Given the description of an element on the screen output the (x, y) to click on. 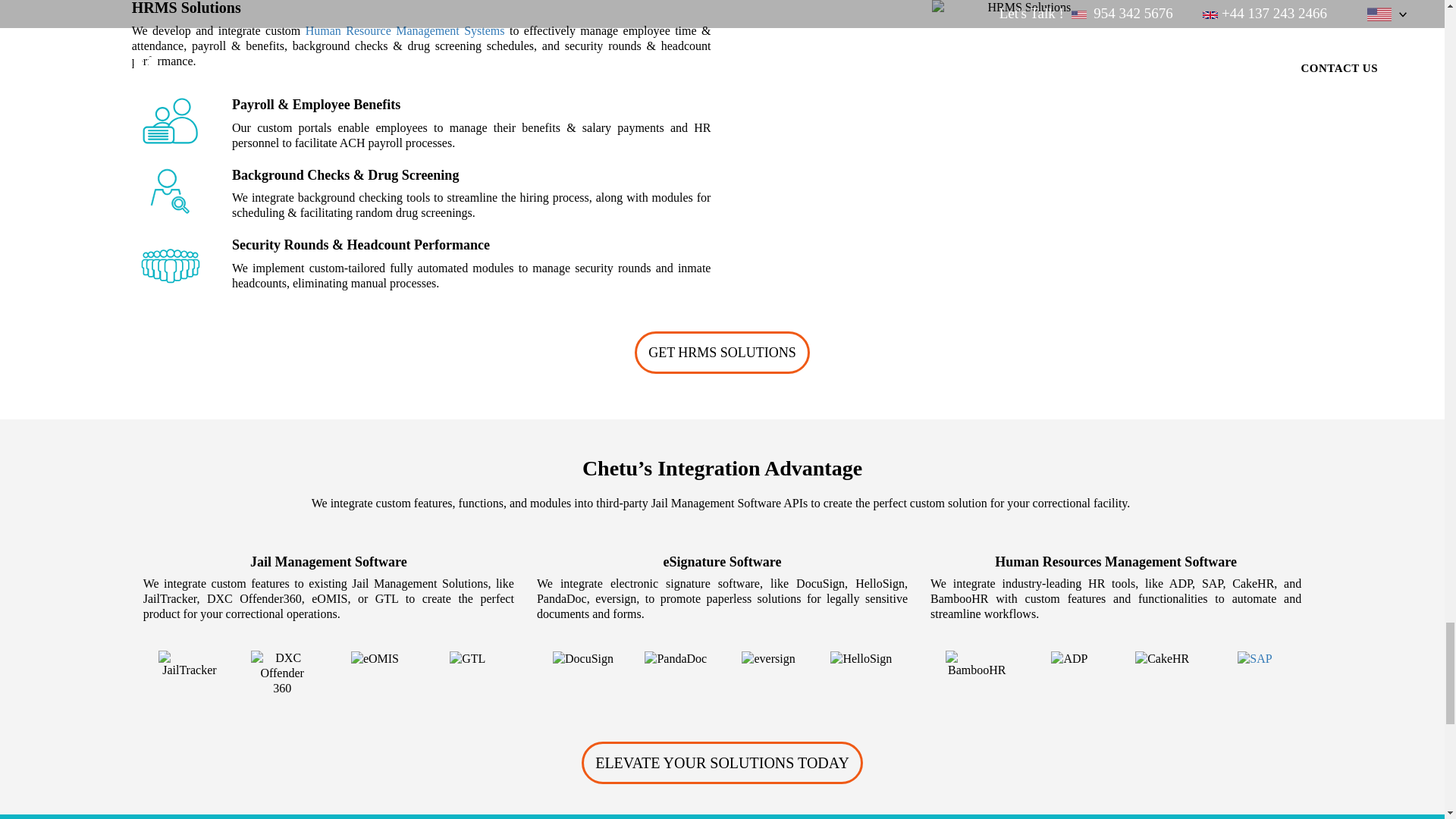
eOMIS (374, 658)
ADP (1069, 658)
GTL (466, 658)
CakeHR (1162, 658)
BambooHR (975, 664)
SAP (1254, 658)
PandaDoc (675, 658)
JailTracker (189, 664)
DocuSign (582, 658)
eversign (767, 658)
HelloSign (860, 658)
DXC Offender 360 (281, 673)
